Given the description of an element on the screen output the (x, y) to click on. 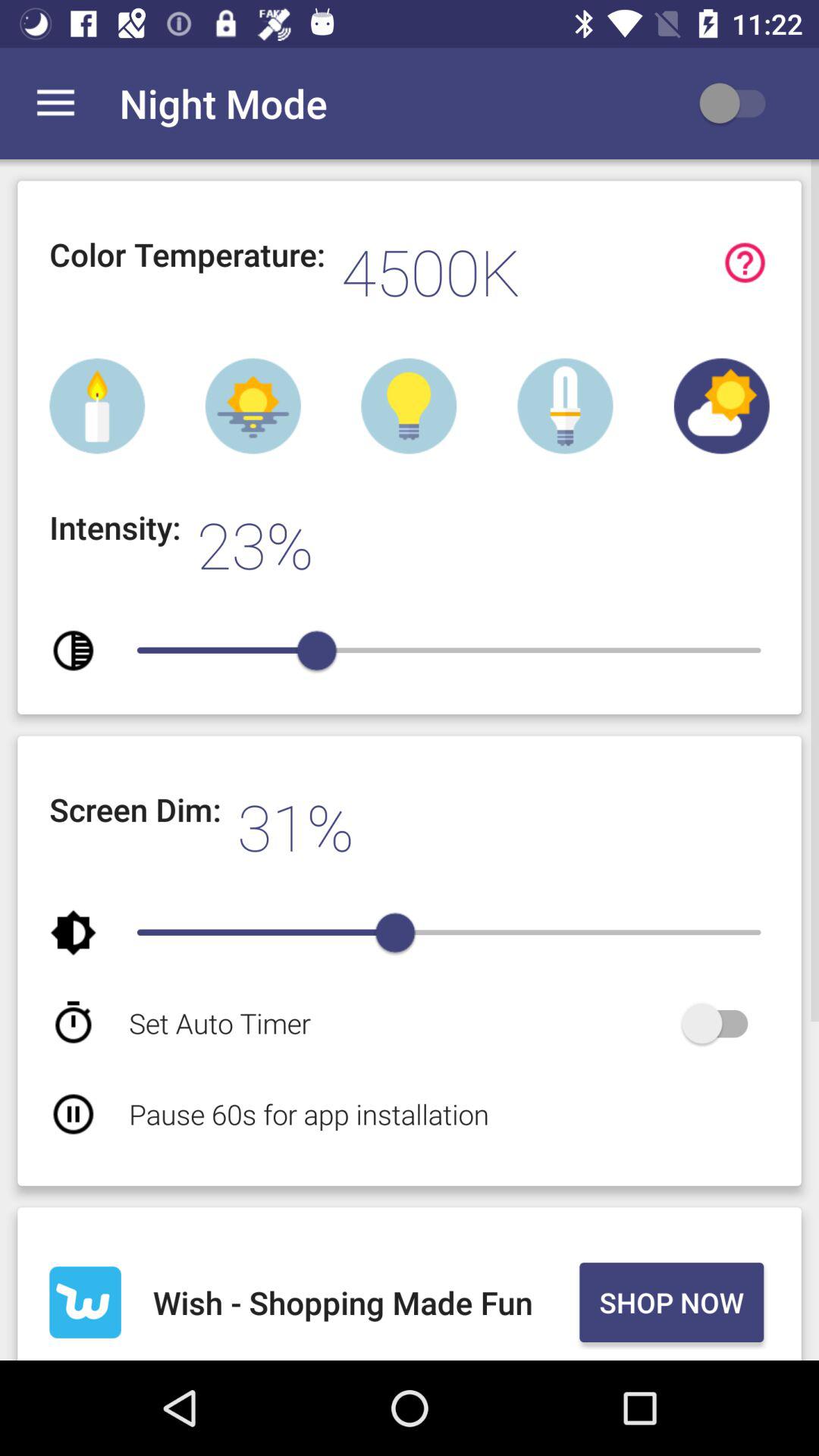
turn on the item next to the wish shopping made item (671, 1302)
